Given the description of an element on the screen output the (x, y) to click on. 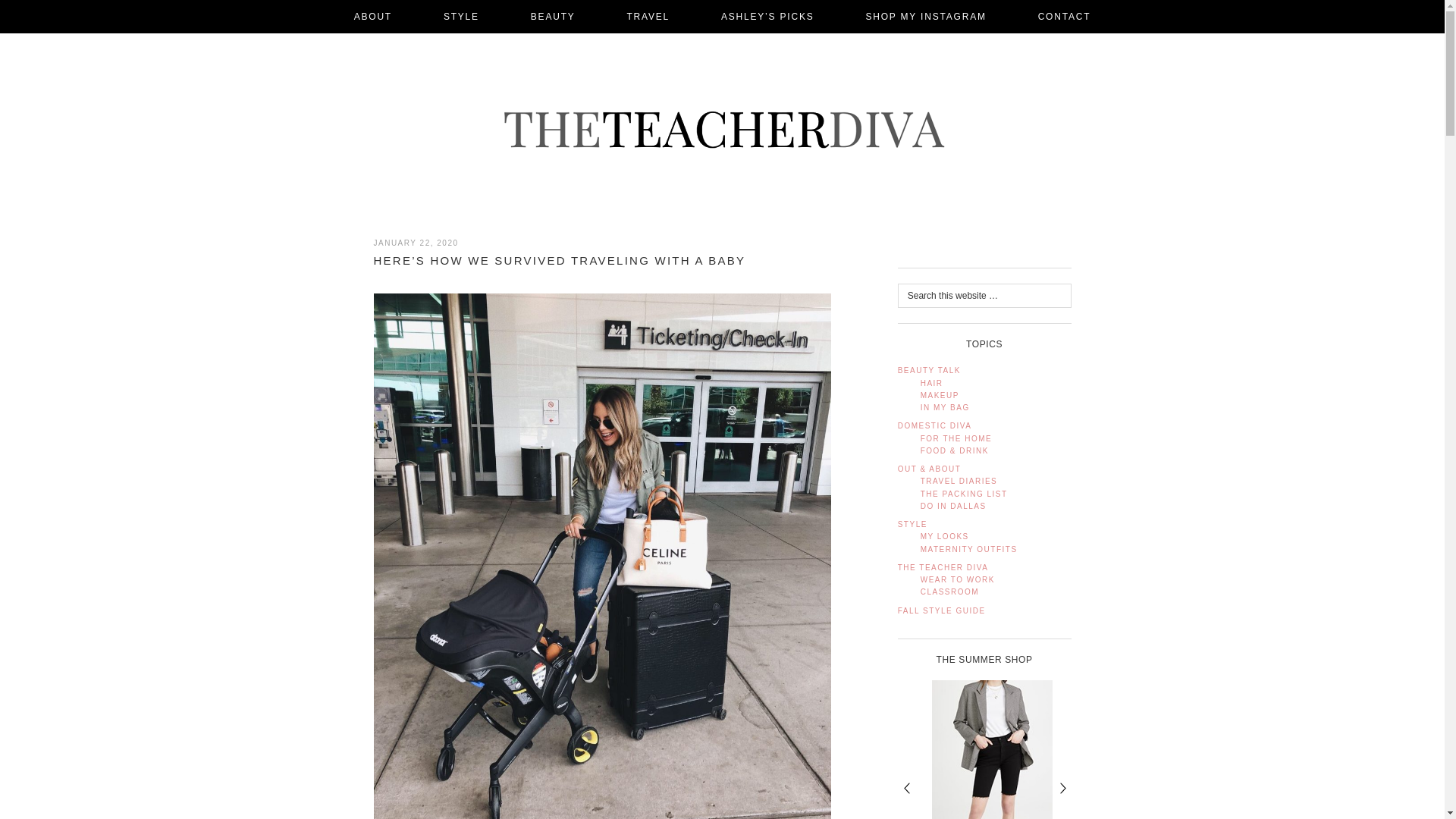
The Teacher Diva (721, 128)
TRAVEL (648, 16)
STYLE (461, 16)
ABOUT (373, 16)
BEAUTY (552, 16)
CONTACT (1064, 16)
SHOP MY INSTAGRAM (925, 16)
The Teacher Diva (722, 128)
